Given the description of an element on the screen output the (x, y) to click on. 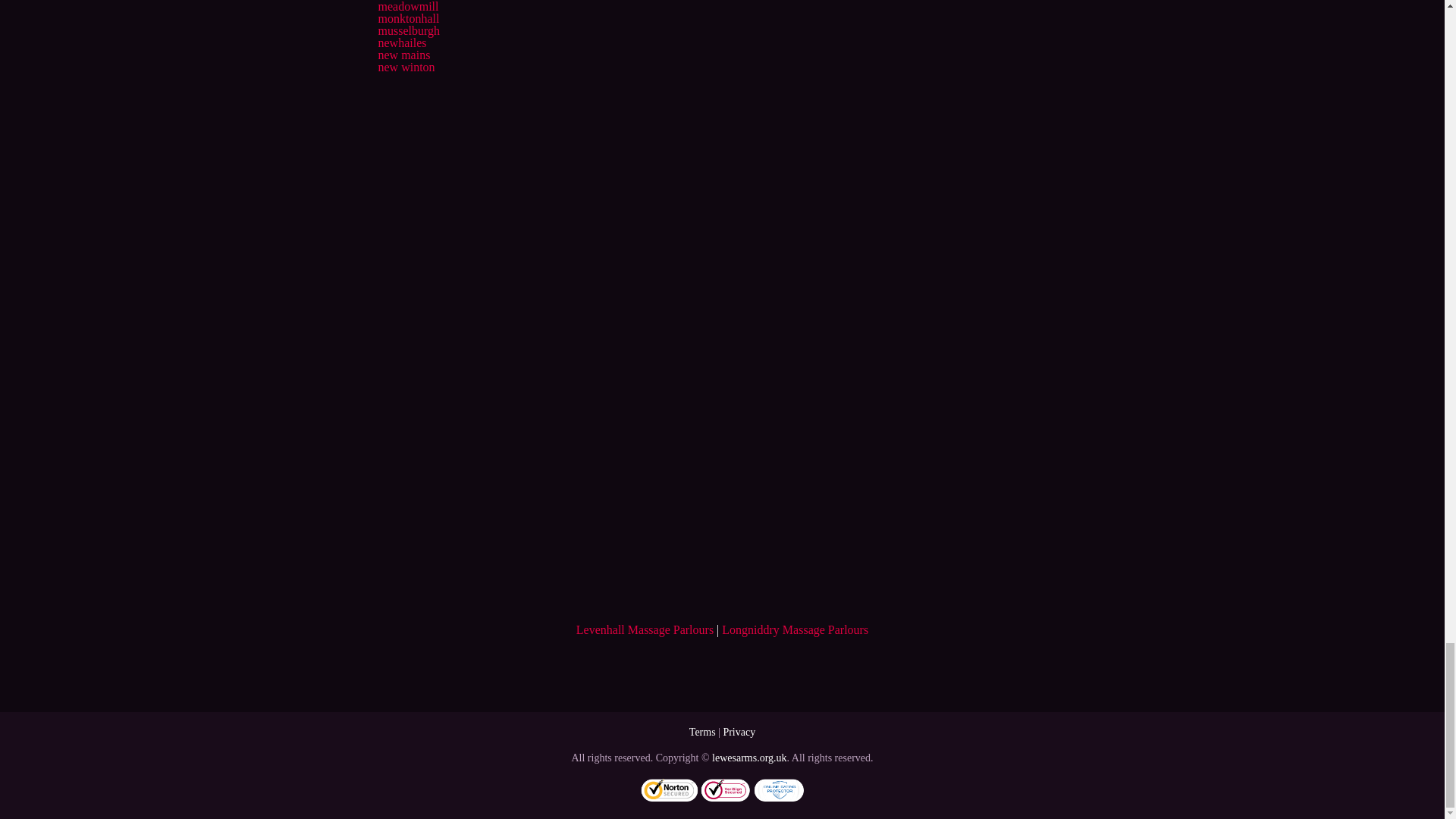
musselburgh (408, 30)
Levenhall Massage Parlours (644, 629)
Privacy (738, 731)
Terms (702, 731)
monktonhall (408, 18)
Privacy (738, 731)
newhailes (401, 42)
Terms (702, 731)
meadowmill (407, 6)
new winton (405, 66)
lewesarms.org.uk (749, 757)
Longniddry Massage Parlours (794, 629)
new mains (403, 54)
